Given the description of an element on the screen output the (x, y) to click on. 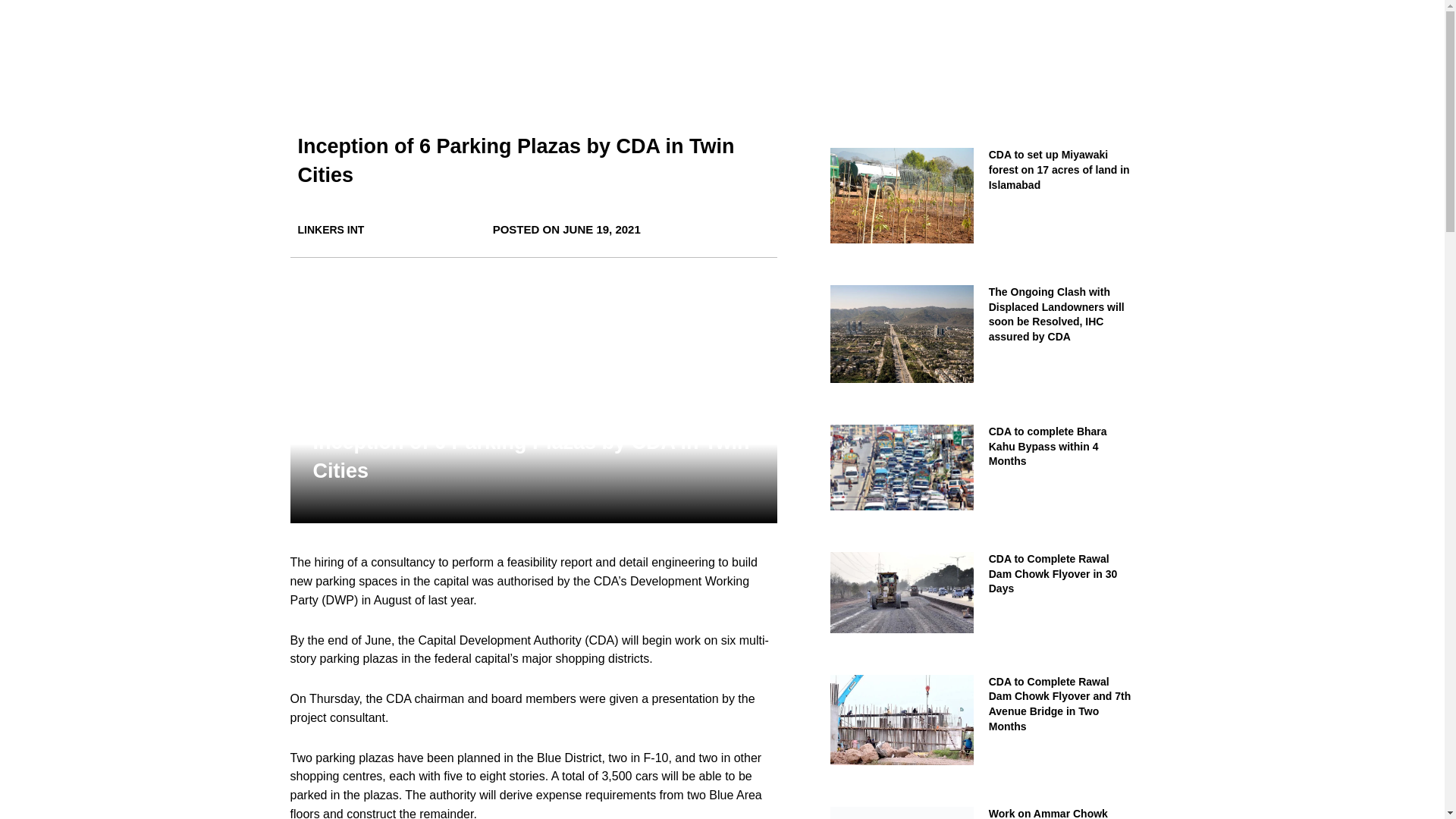
POSTED ON JUNE 19, 2021 (566, 229)
Inception of 6 Parking Plazas by CDA in Twin Cities (531, 456)
Inception of 6 Parking Plazas by CDA in Twin Cities (515, 160)
